Given the description of an element on the screen output the (x, y) to click on. 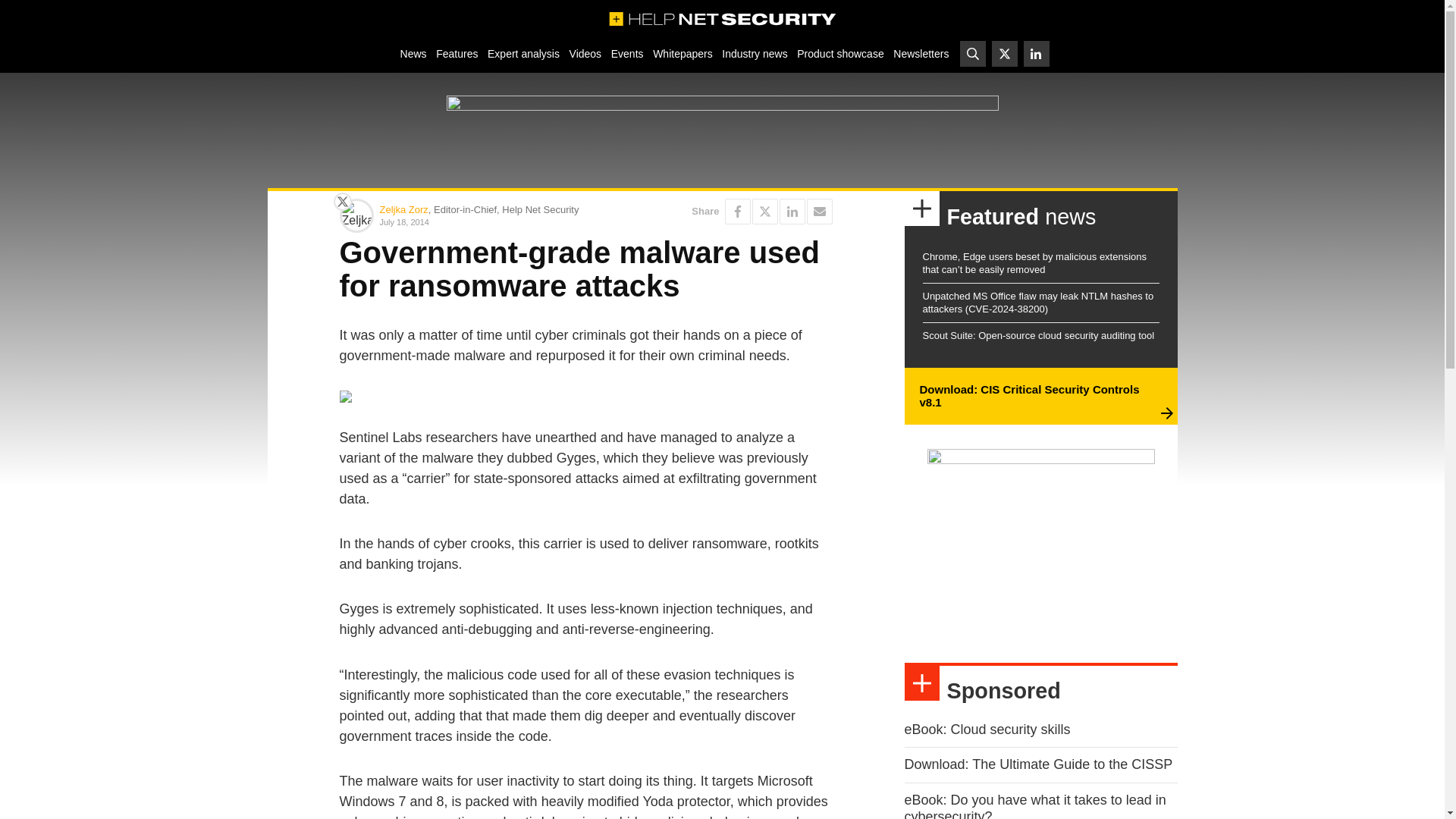
Expert analysis (523, 53)
Features (456, 53)
Industry news (754, 53)
eBook: Cloud security skills (987, 729)
Events (626, 53)
July 18, 2014 (478, 221)
Newsletters (920, 53)
